Given the description of an element on the screen output the (x, y) to click on. 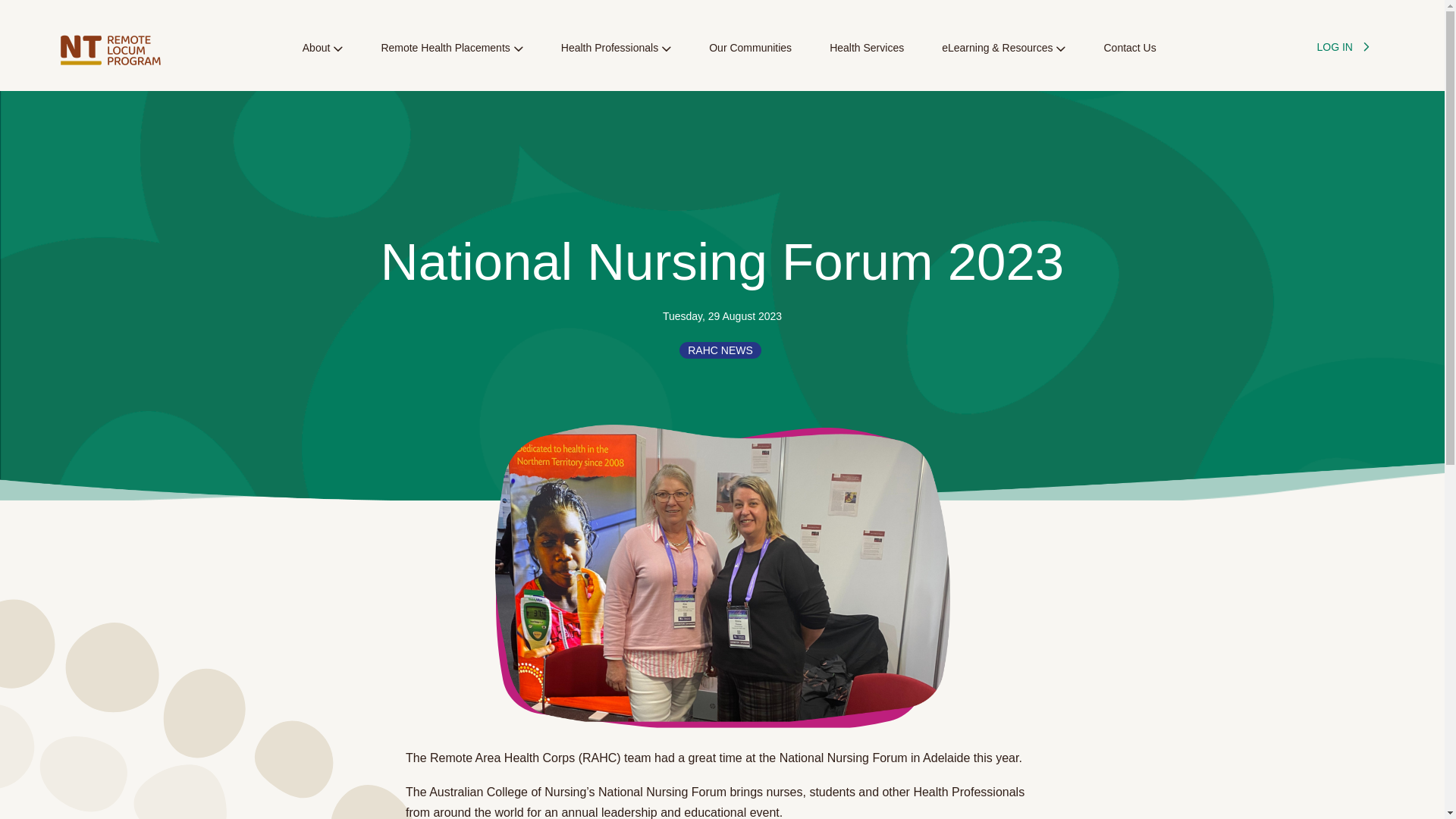
Contact Us (1129, 55)
LOG IN (1340, 47)
Health Professionals (615, 55)
Our Communities (750, 55)
Remote Health Placements (451, 55)
Health Services (866, 55)
RAHC NEWS (720, 350)
About (322, 55)
